Given the description of an element on the screen output the (x, y) to click on. 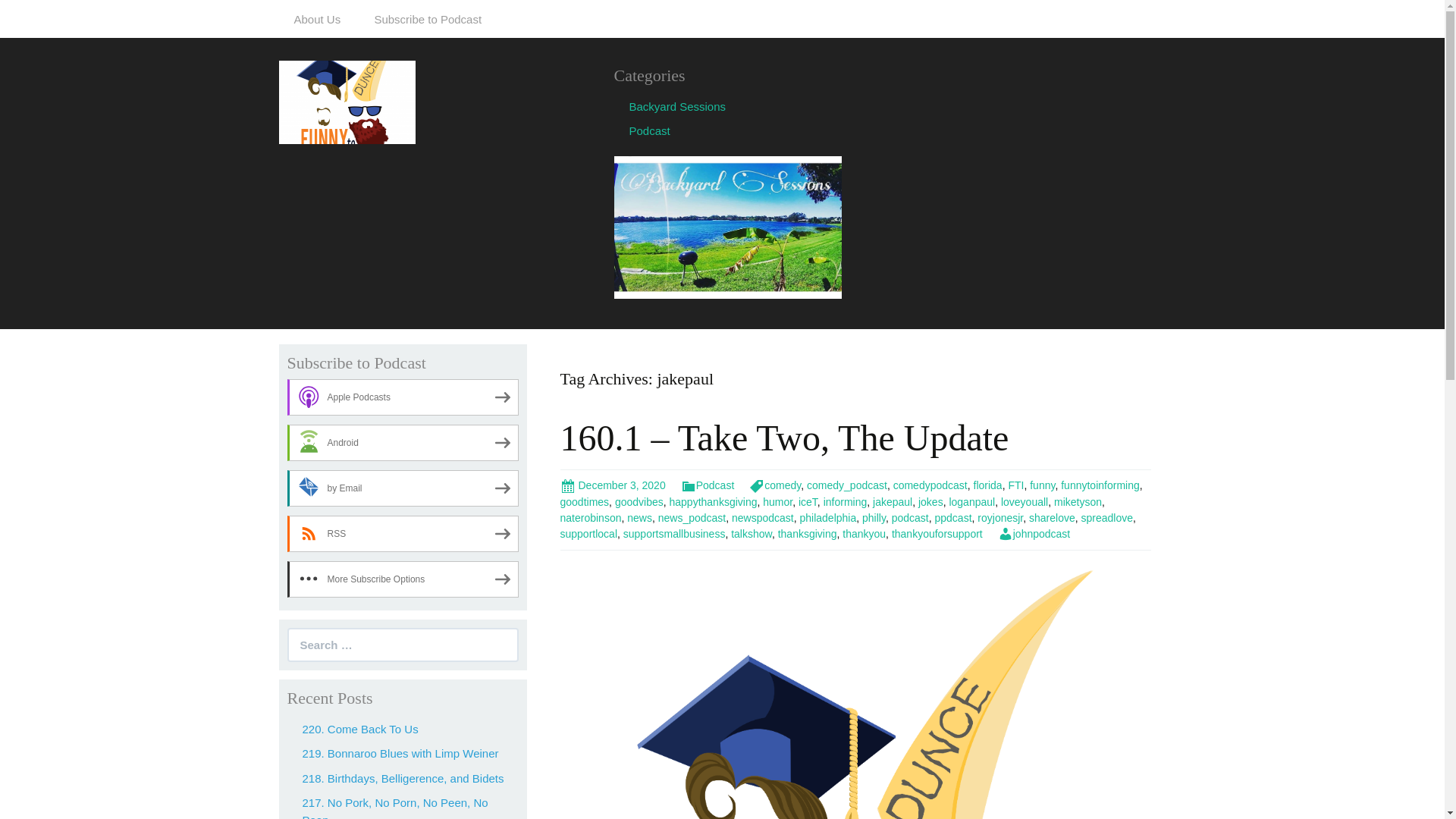
naterobinson (590, 517)
spreadlove (1107, 517)
happythanksgiving (712, 501)
Subscribe to Podcast (427, 18)
Search for: (402, 644)
podcast (909, 517)
Backyard Sessions (677, 106)
jakepaul (892, 501)
FTI (1015, 485)
philly (873, 517)
florida (988, 485)
loveyouall (1024, 501)
royjonesjr (999, 517)
philadelphia (827, 517)
miketyson (1078, 501)
